Given the description of an element on the screen output the (x, y) to click on. 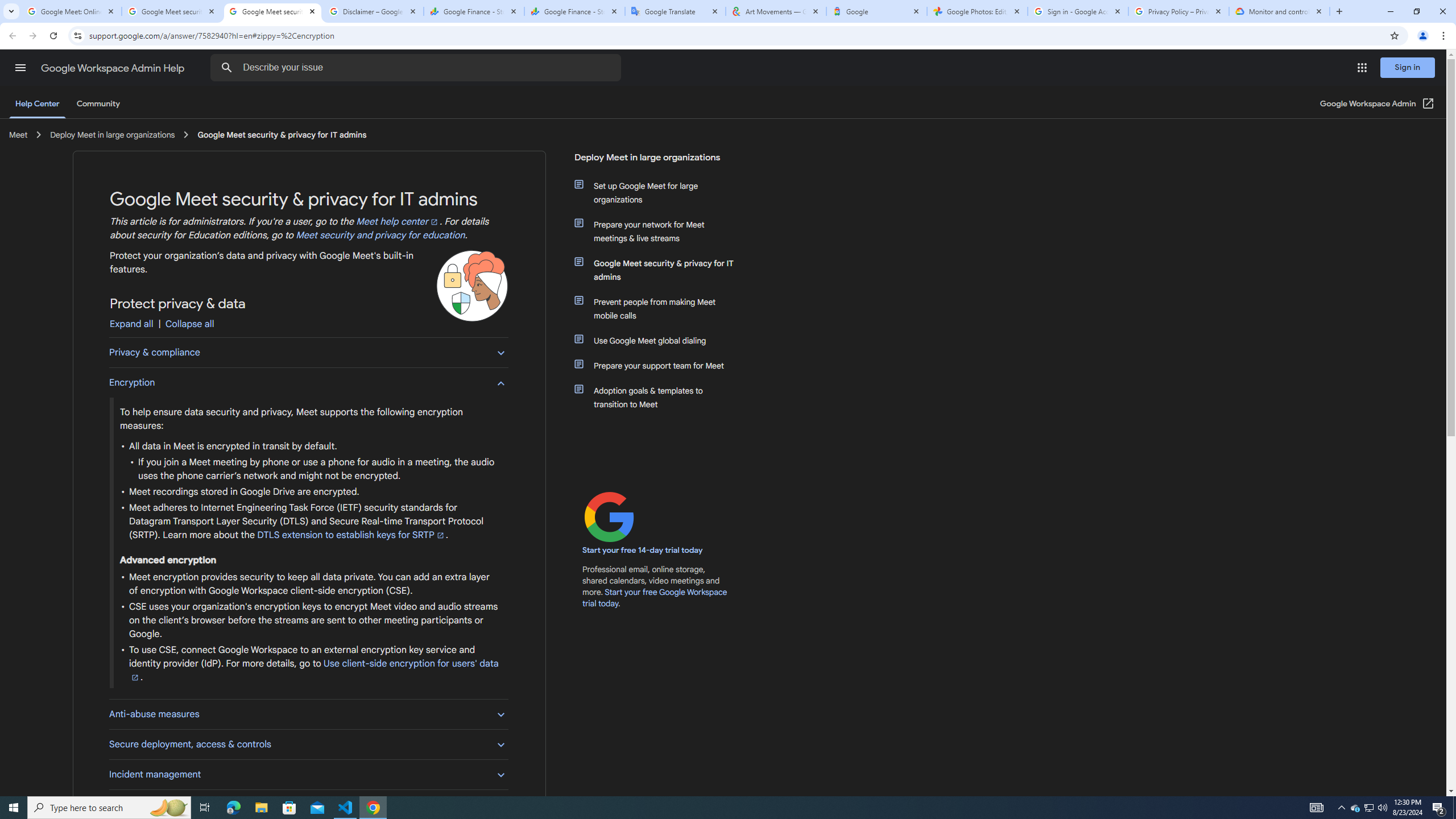
Google Translate (675, 11)
Secure deployment, access & controls (308, 743)
Meet help center (397, 221)
Set up Google Meet for large organizations (661, 192)
Deploy Meet in large organizations (656, 161)
DTLS extension to establish keys for SRTP (351, 534)
Google Meet security & privacy for IT admins (661, 269)
